Given the description of an element on the screen output the (x, y) to click on. 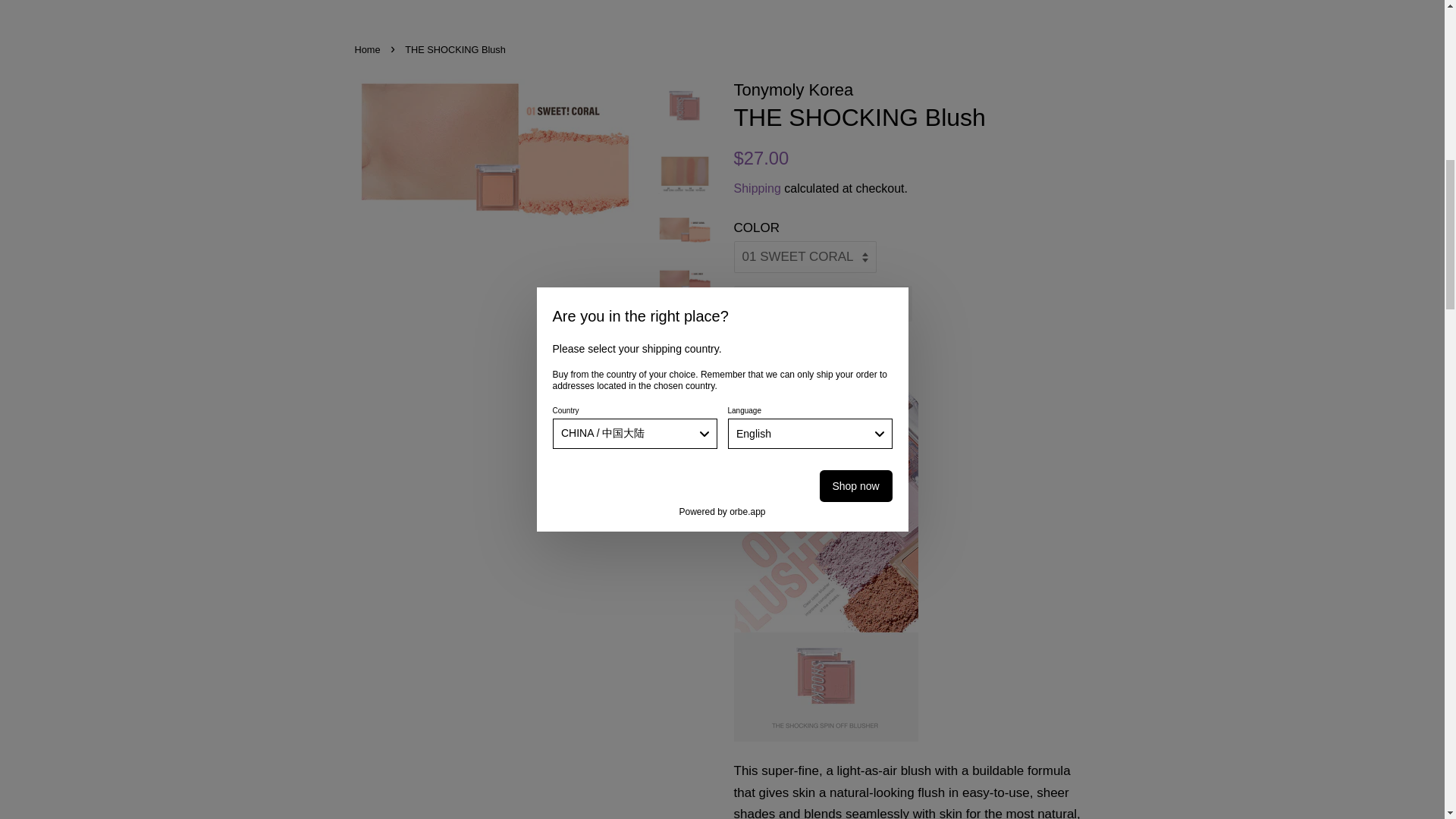
BEST (473, 3)
SKIN CARE (550, 3)
MASK BAR (789, 3)
Home (369, 49)
Back to the frontpage (369, 49)
MAKEUP (638, 3)
INNER BEAUTY (895, 3)
NEW (417, 3)
Shipping (756, 187)
BODY (711, 3)
